Given the description of an element on the screen output the (x, y) to click on. 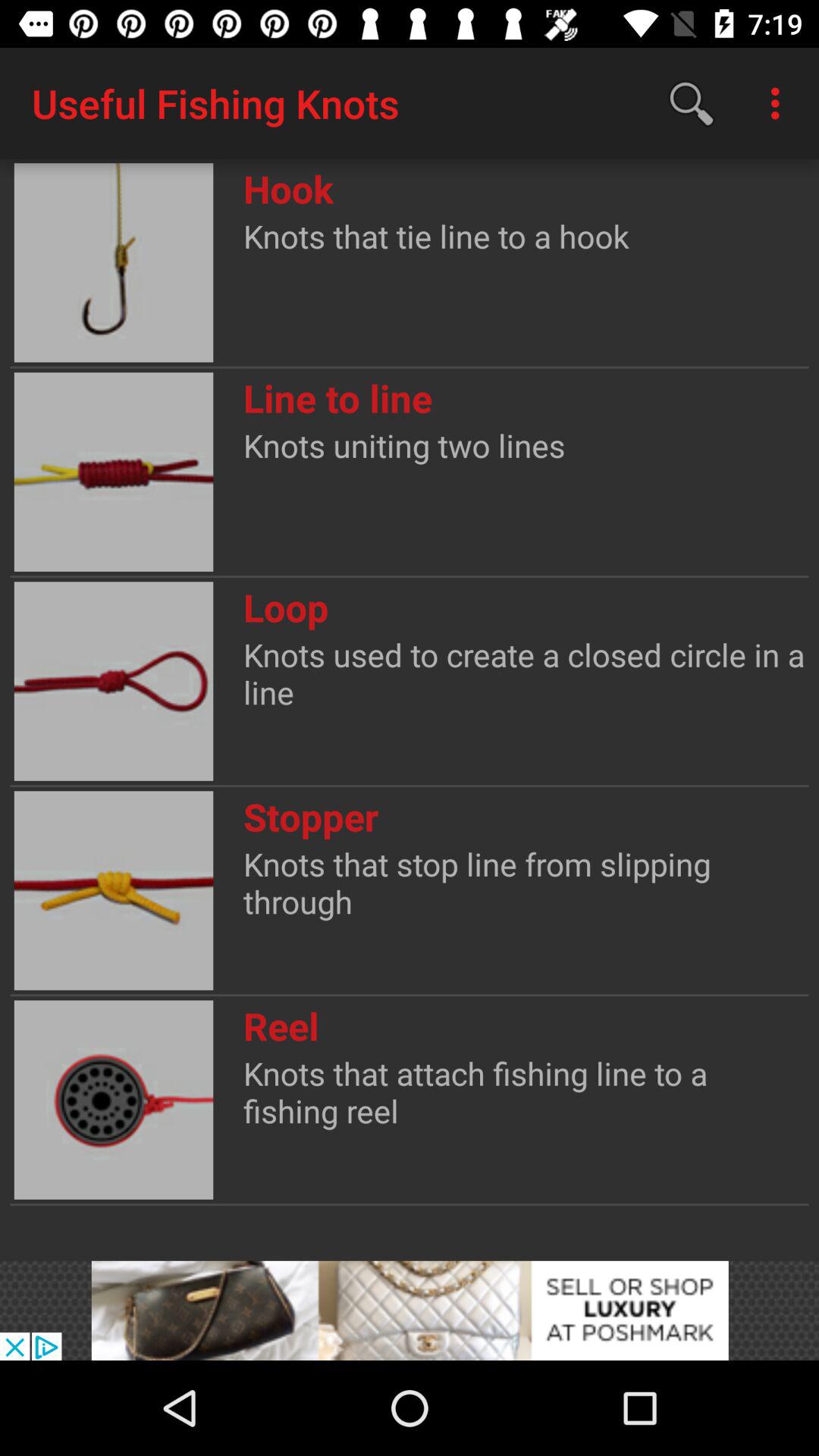
advertisement link (409, 1310)
